Given the description of an element on the screen output the (x, y) to click on. 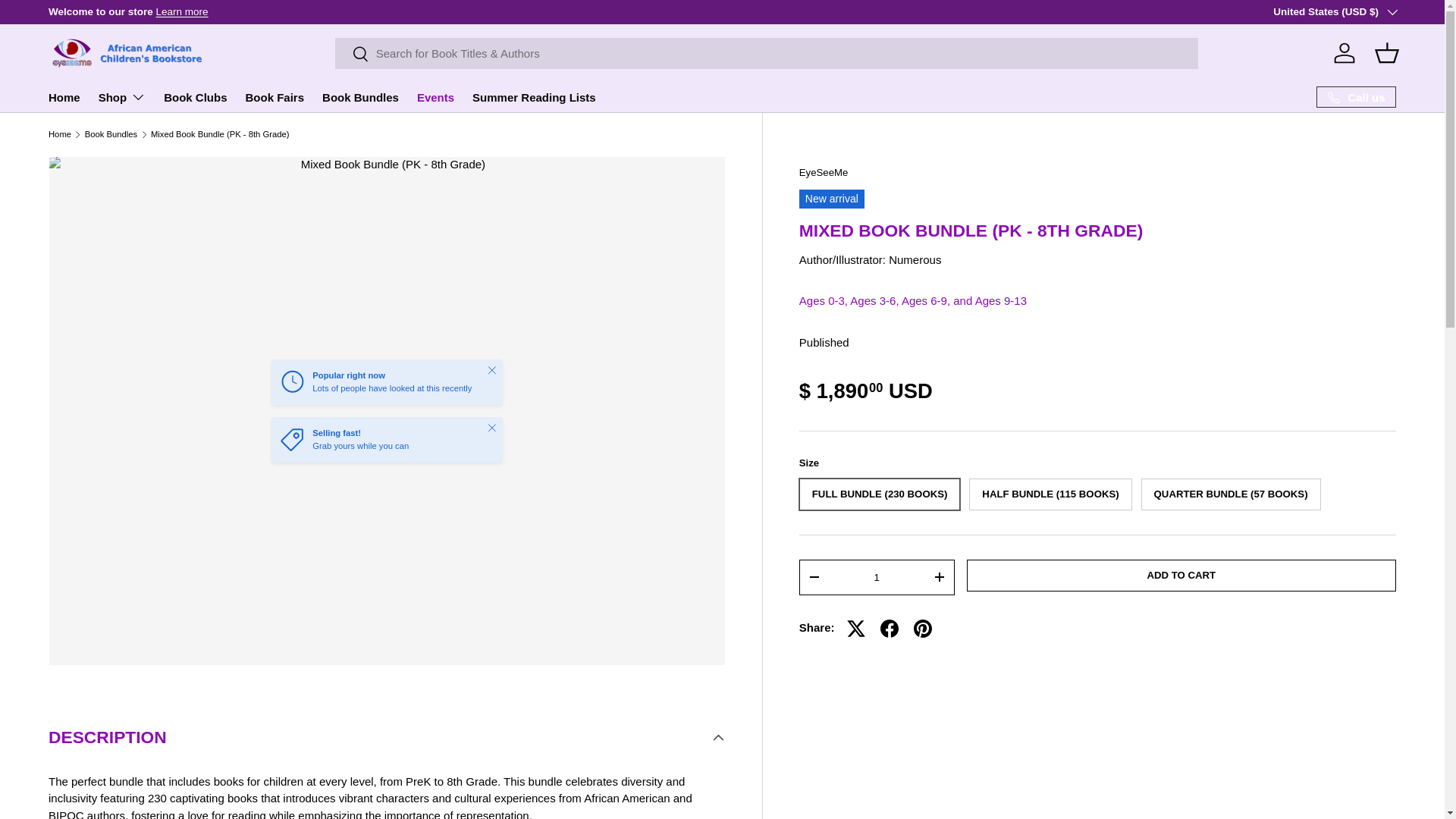
Book Bundles (110, 134)
Home (59, 134)
SKIP TO CONTENT (68, 21)
EyeSeeMe (823, 172)
Share on Facebook (888, 628)
Close (490, 427)
Summer Reading Lists (533, 97)
Close (490, 369)
Pin on Pinterest (922, 628)
ADD TO CART (1181, 575)
